Given the description of an element on the screen output the (x, y) to click on. 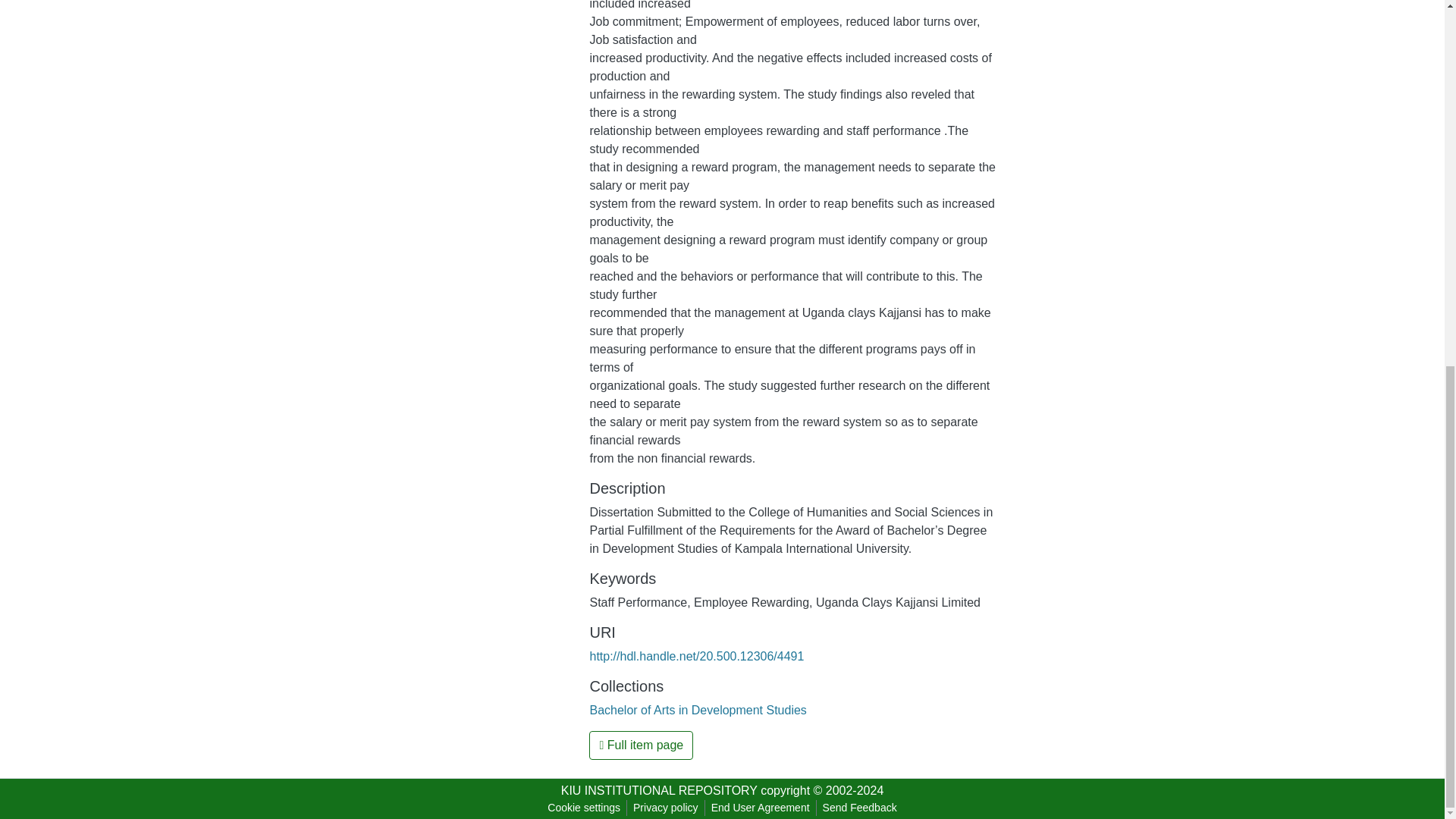
End User Agreement (759, 807)
Send Feedback (859, 807)
KIU INSTITUTIONAL REPOSITORY (658, 789)
Privacy policy (665, 807)
Bachelor of Arts in Development Studies (697, 709)
Cookie settings (583, 807)
Full item page (641, 745)
